Given the description of an element on the screen output the (x, y) to click on. 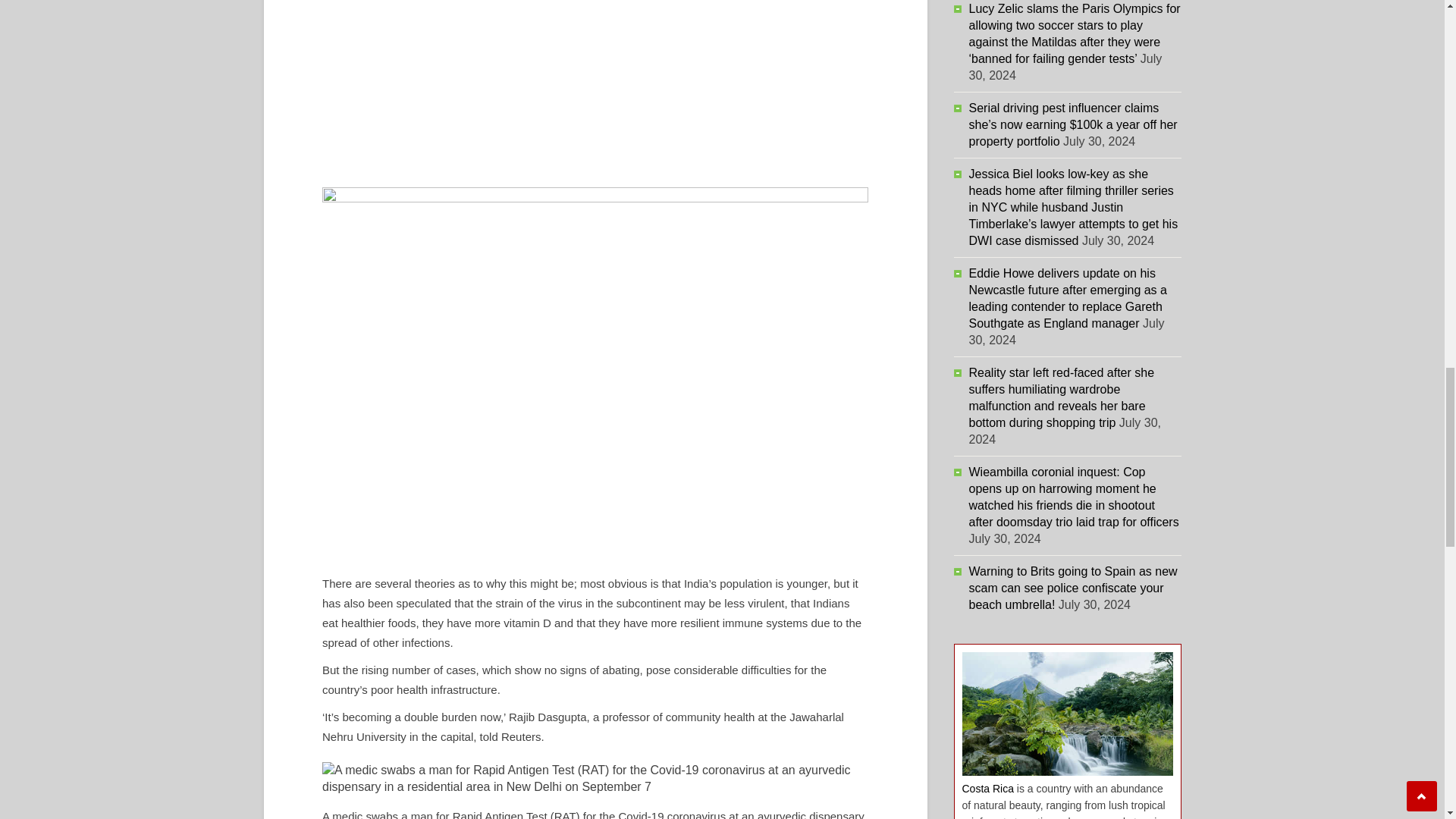
Costa Rica (986, 788)
